Given the description of an element on the screen output the (x, y) to click on. 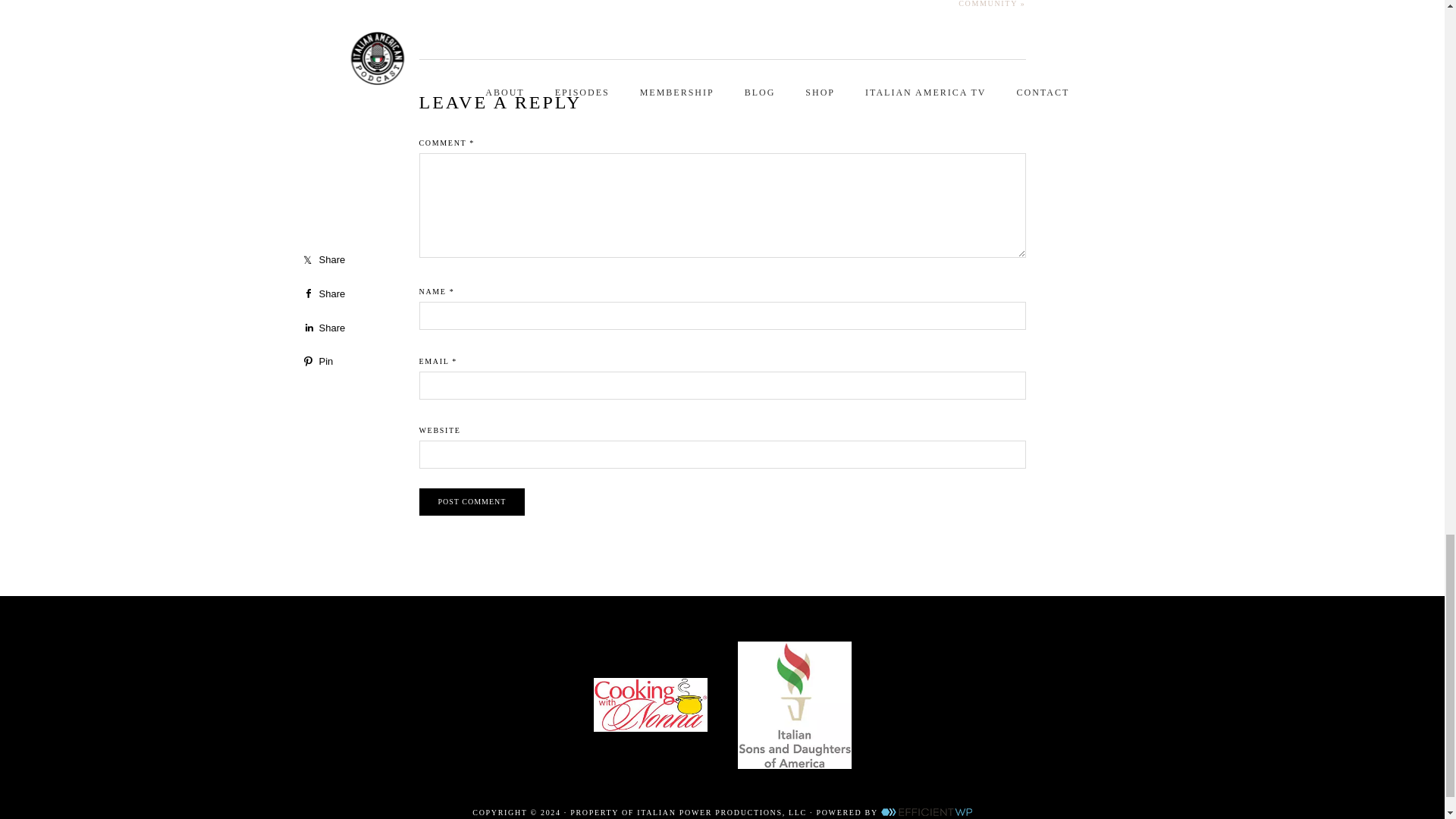
Post Comment (471, 501)
Post Comment (471, 501)
